Given the description of an element on the screen output the (x, y) to click on. 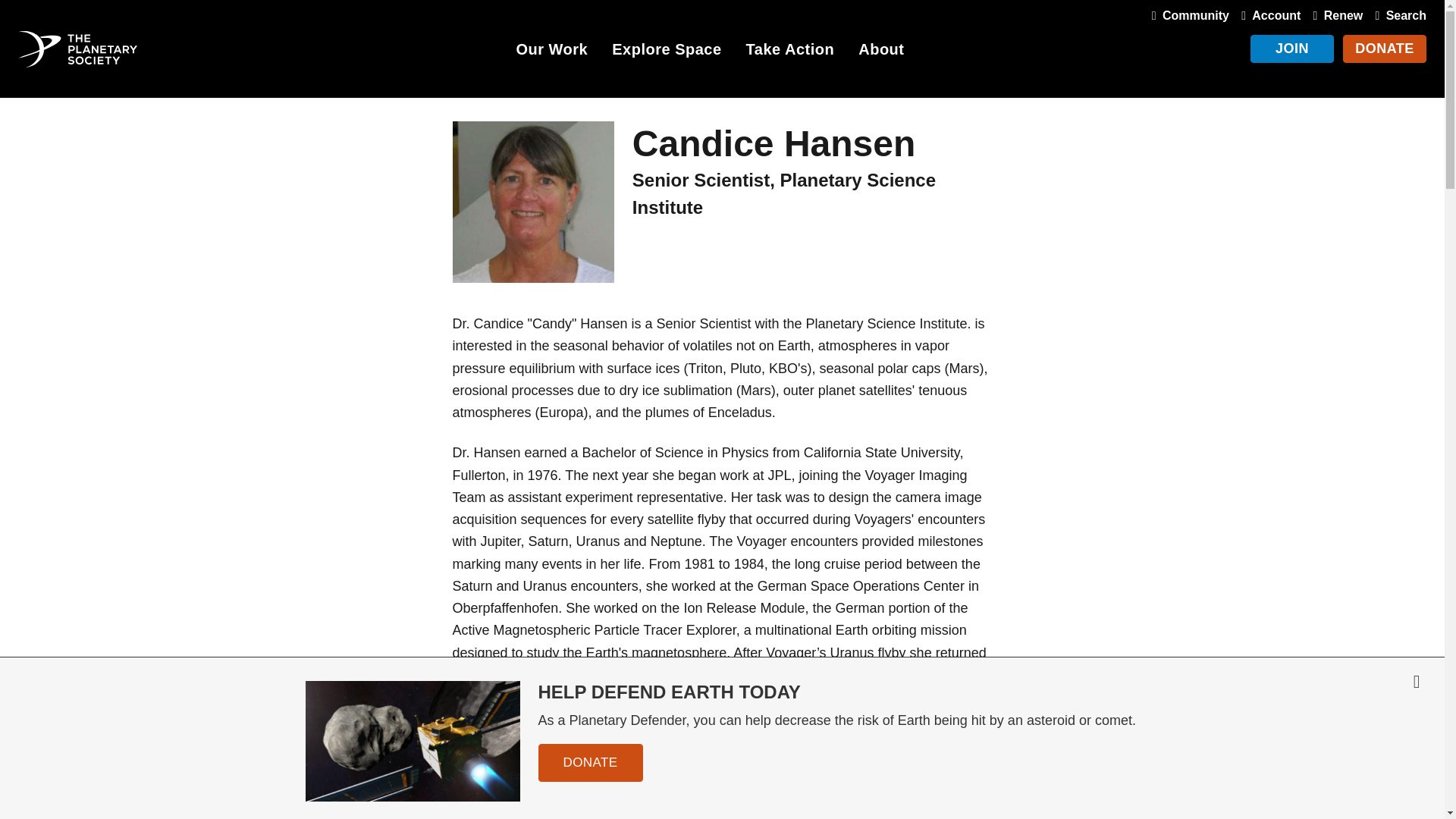
Explore Space (665, 51)
About (881, 51)
Our Work (551, 51)
Search (1397, 15)
Take Action (789, 51)
DONATE (1384, 49)
JOIN (1291, 49)
Renew (1334, 15)
Community (1186, 15)
Account (1267, 15)
